Given the description of an element on the screen output the (x, y) to click on. 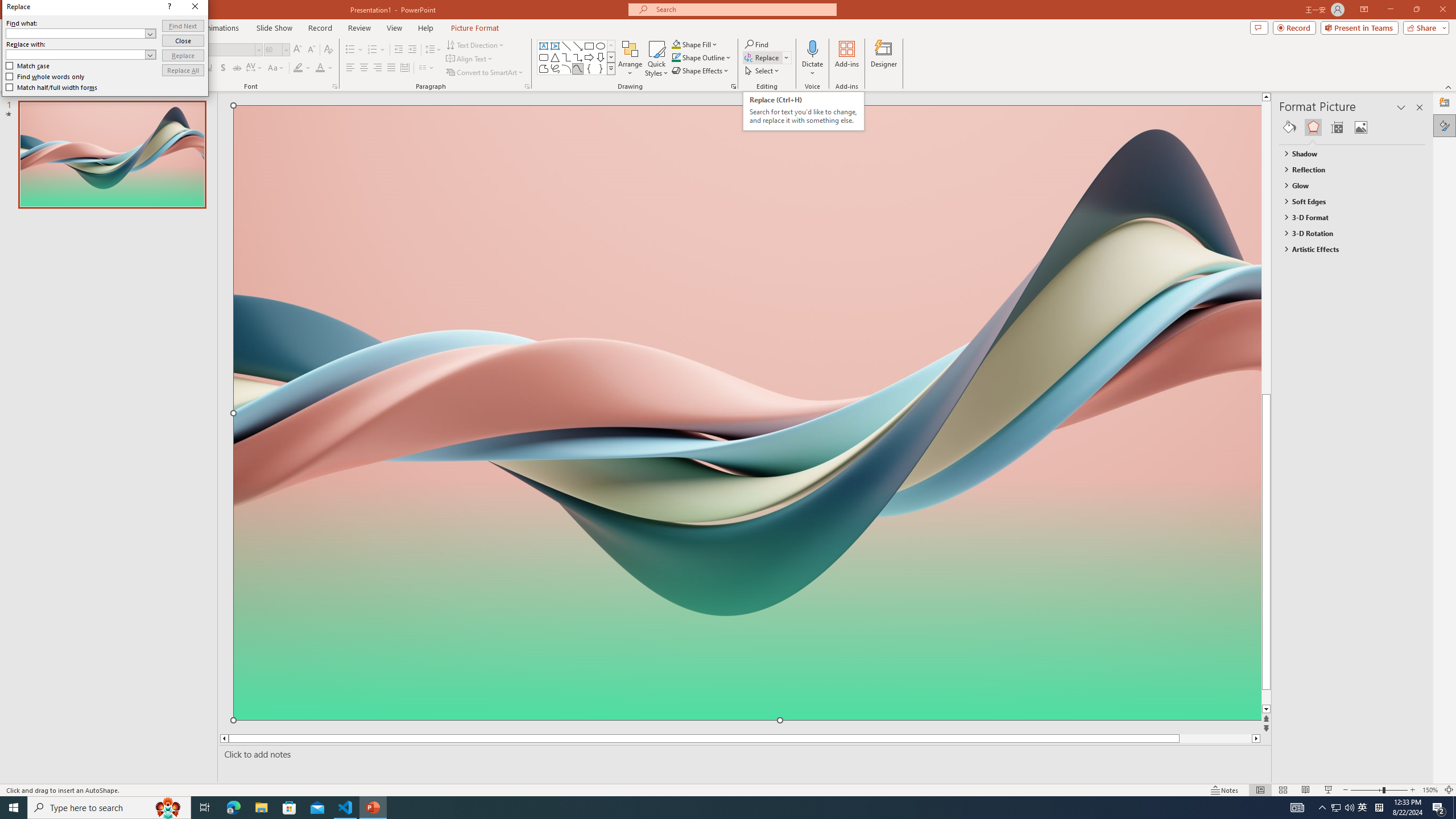
Shadow (223, 67)
Picture Format (475, 28)
3-D Format (1347, 217)
Character Spacing (254, 67)
Close (183, 40)
Vertical Text Box (554, 45)
Glow (1347, 185)
Shape Fill Orange, Accent 2 (675, 44)
Align Text (470, 58)
Bullets (349, 49)
Reading View (1305, 790)
Slide Sorter (1282, 790)
